Given the description of an element on the screen output the (x, y) to click on. 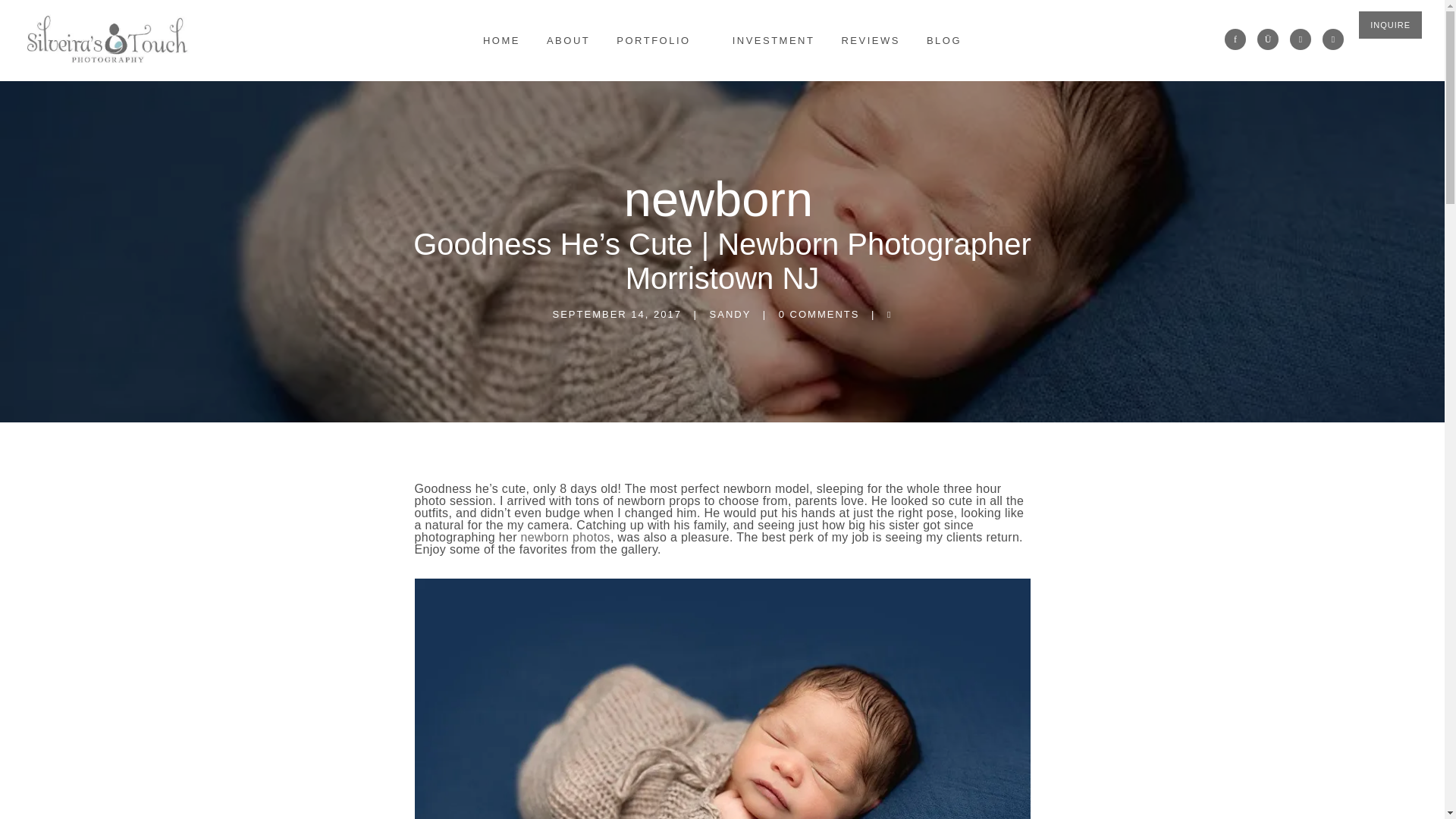
HOME (501, 40)
INVESTMENT (773, 40)
REVIEWS (869, 40)
BLOG (943, 40)
ABOUT (567, 40)
PORTFOLIO (652, 40)
